Given the description of an element on the screen output the (x, y) to click on. 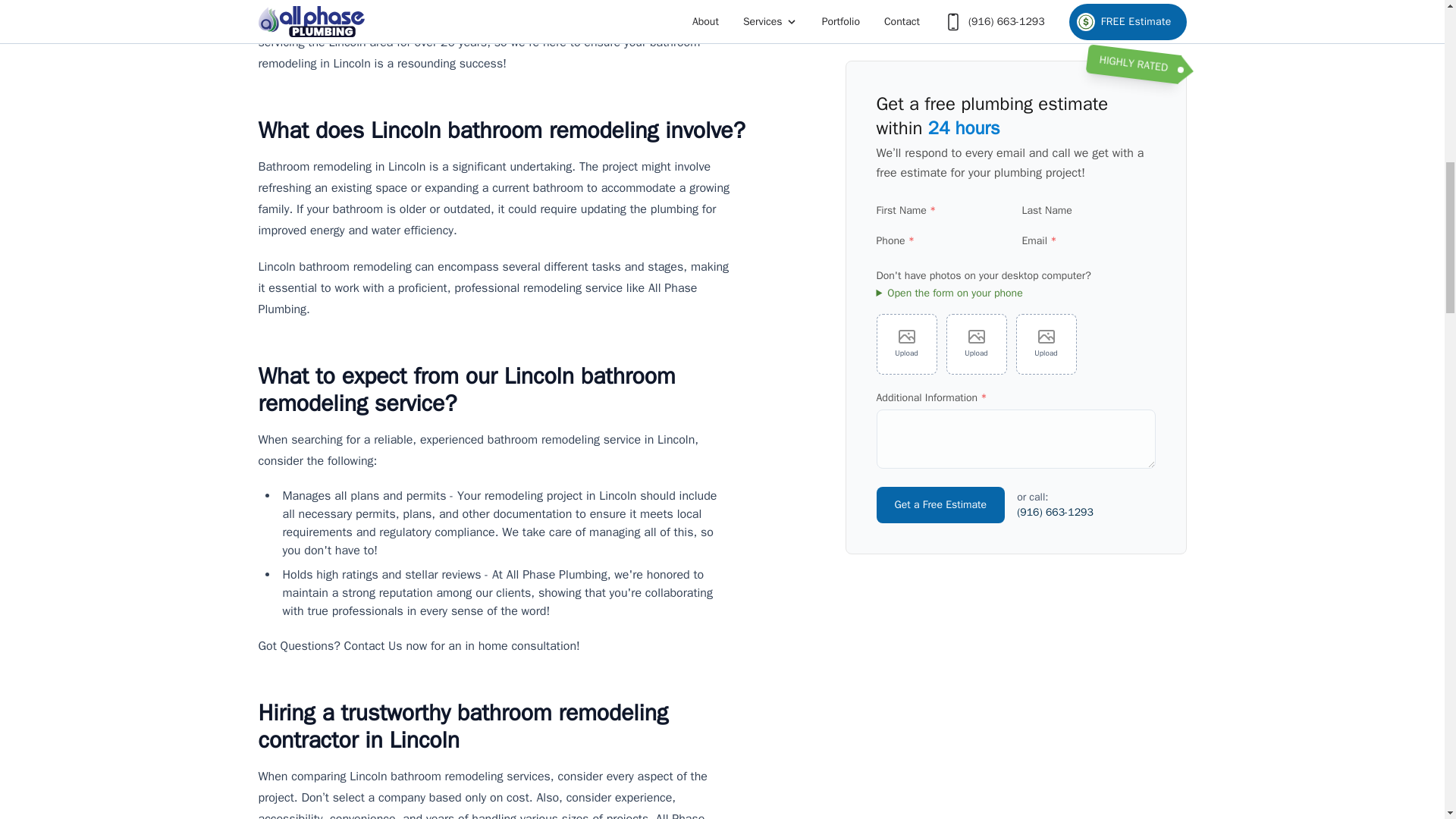
Upload (906, 165)
Get a Free Estimate (941, 325)
Upload (1046, 165)
Upload (976, 165)
